Given the description of an element on the screen output the (x, y) to click on. 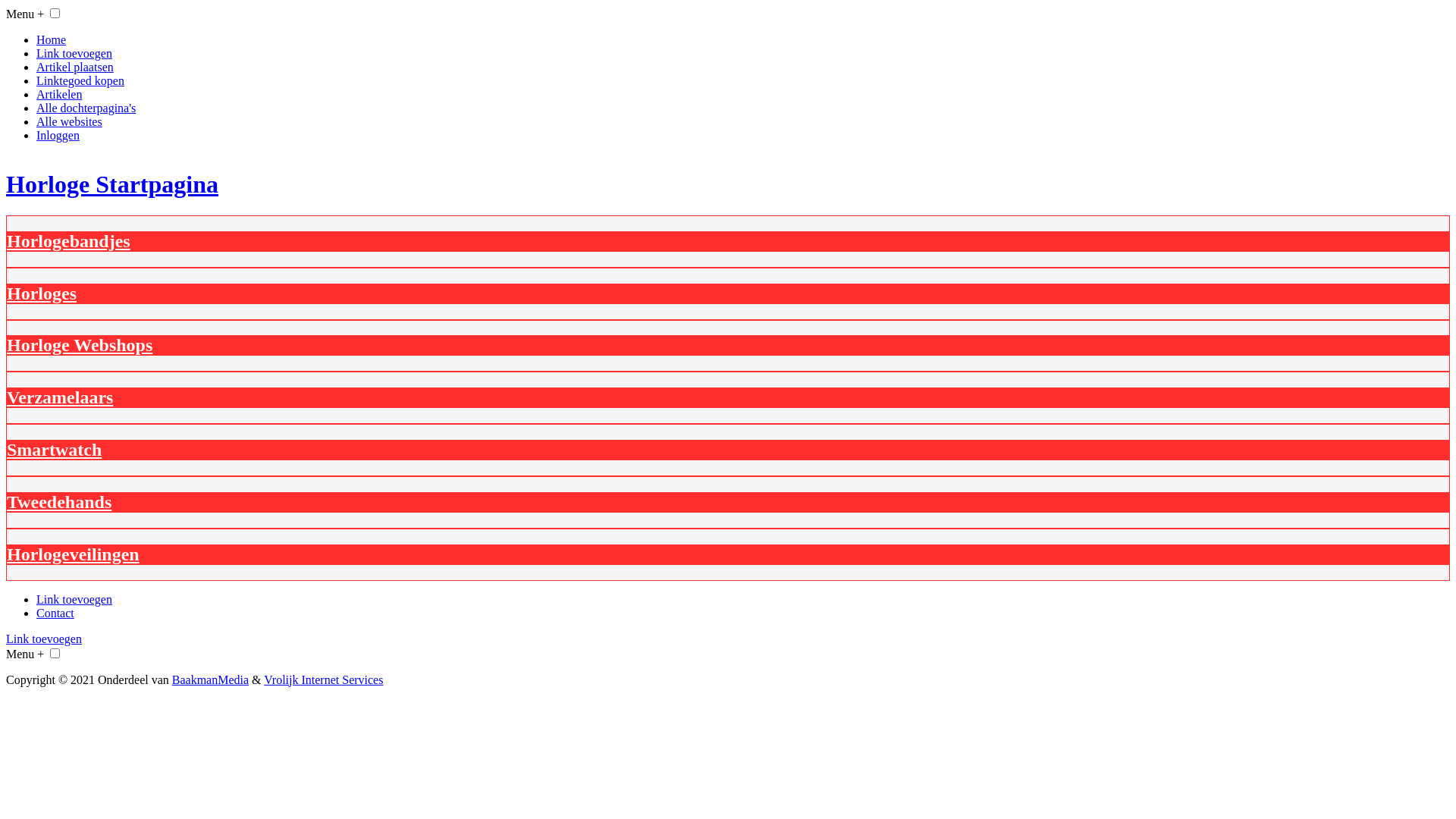
Link toevoegen Element type: text (74, 599)
Horlogebandjes Element type: text (68, 241)
Link toevoegen Element type: text (74, 53)
Vrolijk Internet Services Element type: text (322, 679)
Contact Element type: text (55, 612)
Horloge Startpagina Element type: text (727, 184)
Alle websites Element type: text (69, 121)
Horloges Element type: text (41, 293)
BaakmanMedia Element type: text (210, 679)
Tweedehands Element type: text (58, 501)
Horlogeveilingen Element type: text (72, 554)
Linktegoed kopen Element type: text (80, 80)
Artikel plaatsen Element type: text (74, 66)
Smartwatch Element type: text (53, 449)
Alle dochterpagina's Element type: text (85, 107)
Home Element type: text (50, 39)
Artikelen Element type: text (58, 93)
Inloggen Element type: text (57, 134)
Link toevoegen Element type: text (43, 638)
Horloge Webshops Element type: text (79, 344)
Verzamelaars Element type: text (59, 397)
